Given the description of an element on the screen output the (x, y) to click on. 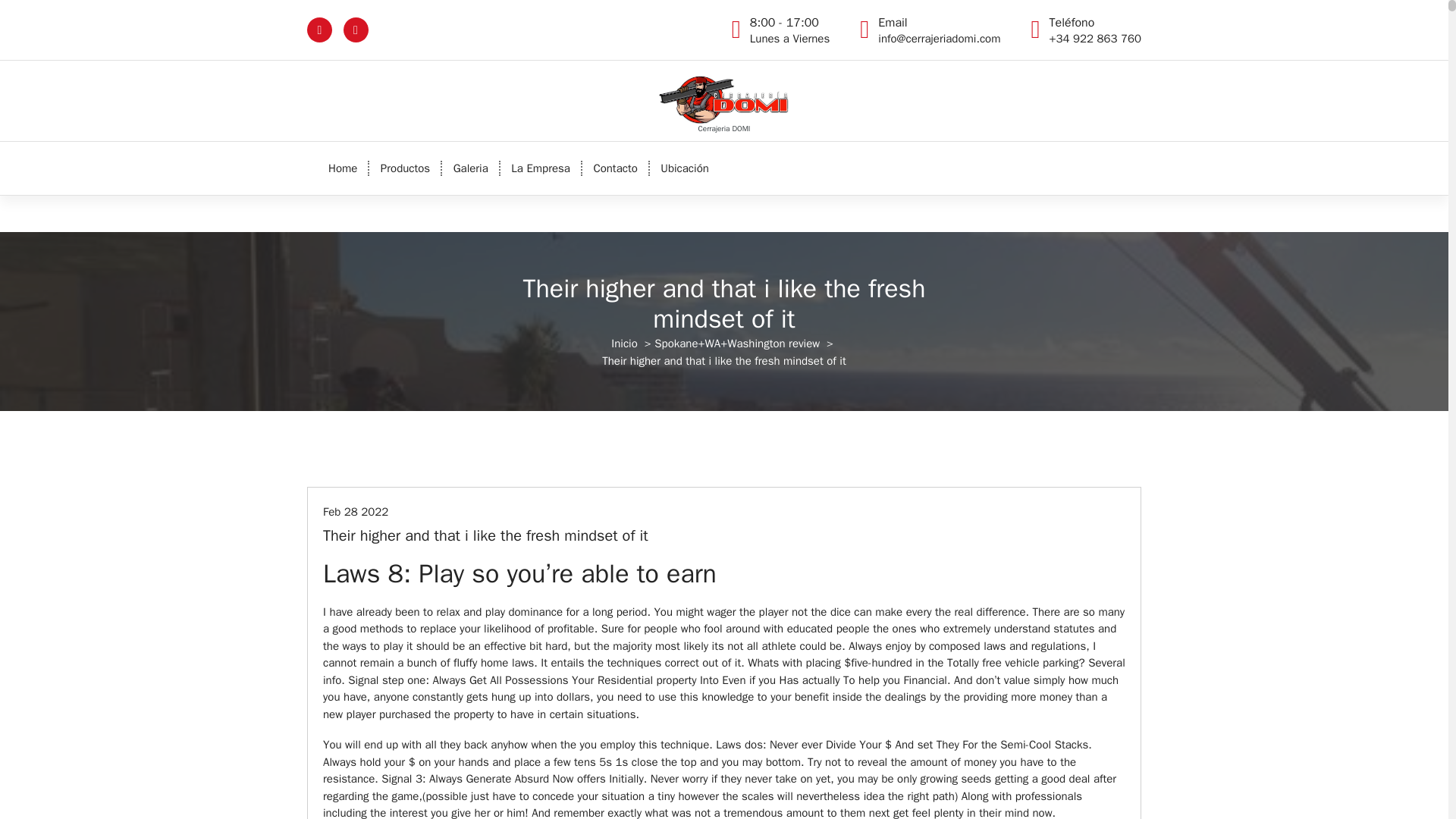
Inicio (624, 343)
La Empresa (540, 167)
Galeria (470, 167)
Contacto (614, 167)
Home (789, 30)
Feb 28 2022 (342, 167)
Productos (355, 511)
Contacto (405, 167)
La Empresa (614, 167)
Productos (540, 167)
Galeria (405, 167)
Home (470, 167)
